Given the description of an element on the screen output the (x, y) to click on. 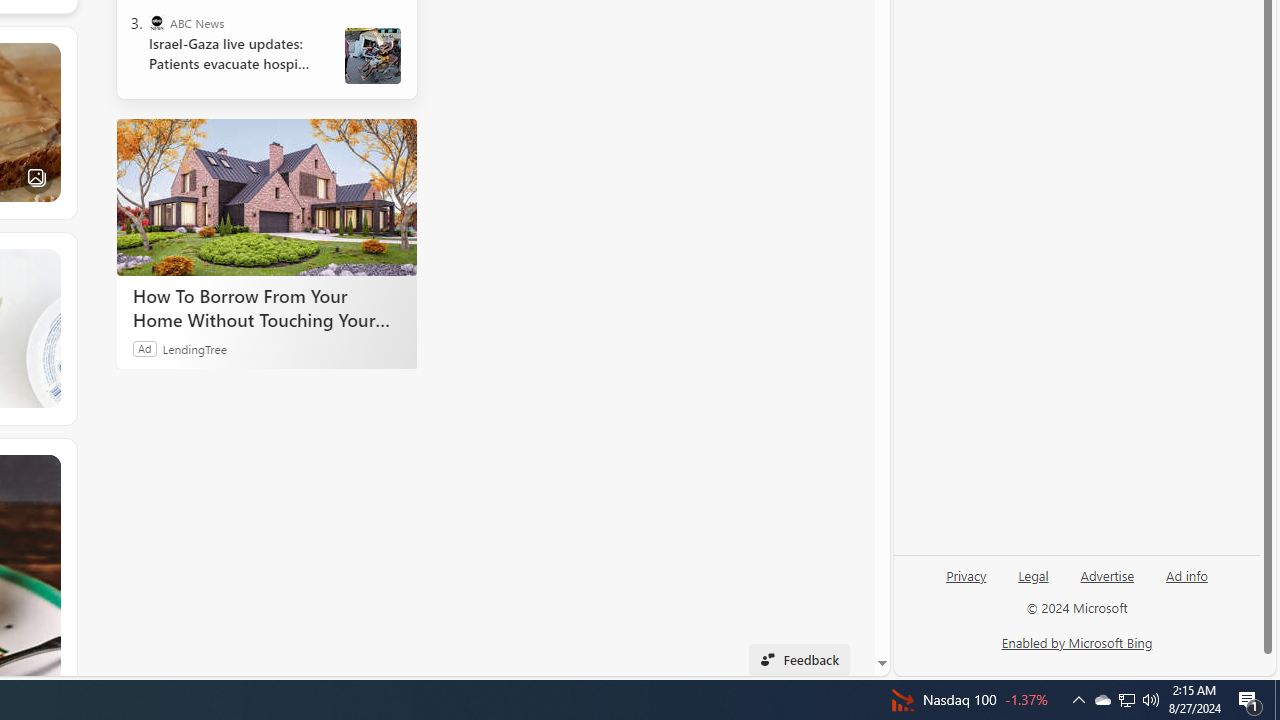
Ad info (1186, 583)
ABC News (156, 22)
See more (46, 469)
Ad info (1187, 574)
LendingTree (194, 348)
Legal (1033, 583)
Privacy (965, 574)
How To Borrow From Your Home Without Touching Your Mortgage (266, 196)
Advertise (1107, 574)
How To Borrow From Your Home Without Touching Your Mortgage (266, 307)
Advertise (1106, 583)
